Given the description of an element on the screen output the (x, y) to click on. 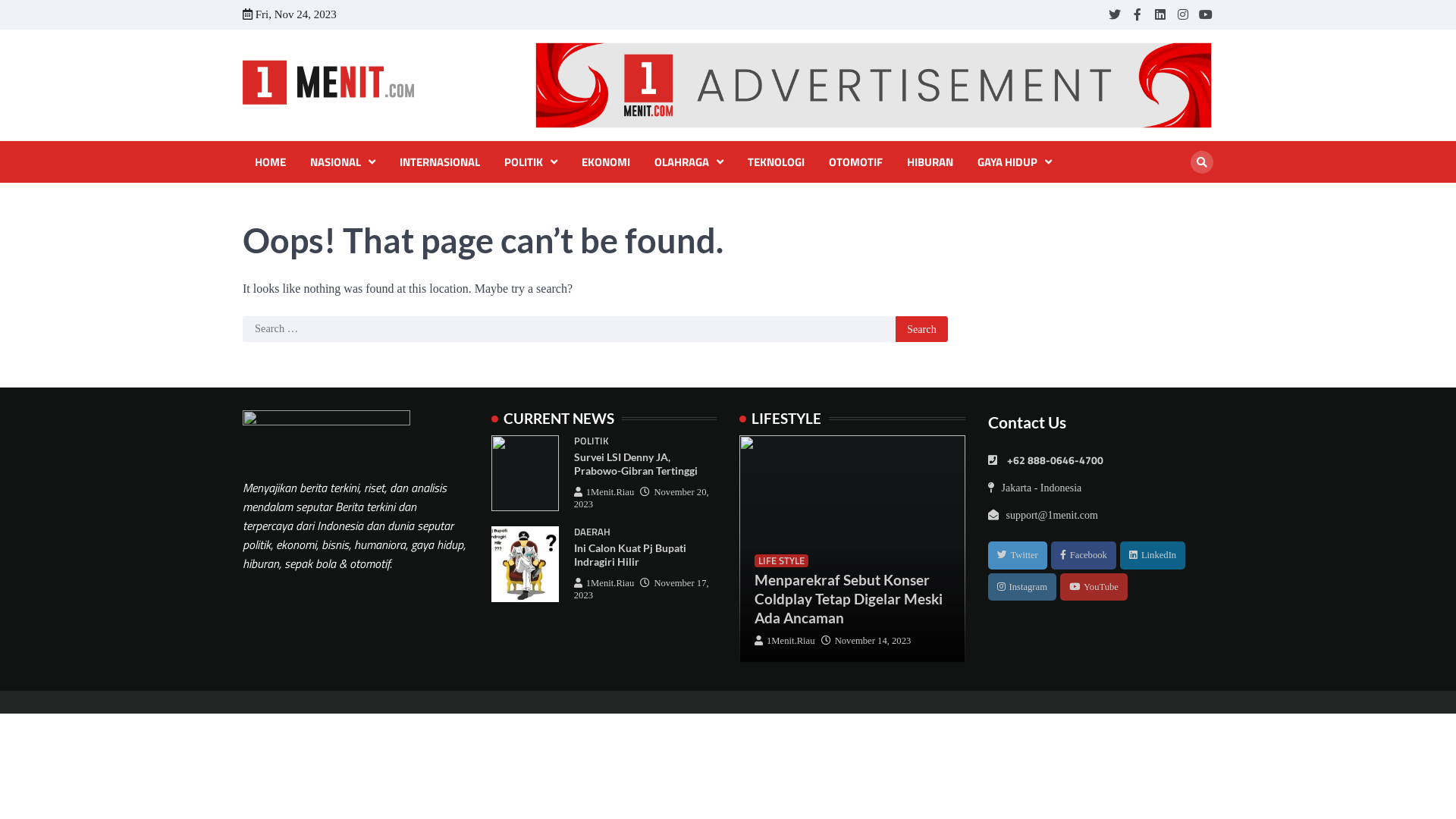
+62 888-0646-4700 Element type: text (1044, 460)
YouTube Element type: text (1093, 587)
Search Element type: hover (1201, 161)
HIBURAN Element type: text (929, 162)
Jakarta - Indonesia Element type: text (1034, 487)
POLITIK Element type: text (591, 440)
support@1menit.com Element type: text (1042, 514)
OLAHRAGA Element type: text (688, 162)
HOME Element type: text (269, 162)
TEKNOLOGI Element type: text (775, 162)
EKONOMI Element type: text (605, 162)
LinkedIn Element type: text (1152, 555)
DAERAH Element type: text (592, 531)
Instagram Element type: text (1182, 13)
November 17, 2023 Element type: text (641, 588)
Facebook Element type: text (1137, 13)
November 20, 2023 Element type: text (641, 497)
Twitter Element type: text (1016, 555)
November 14, 2023 Element type: text (866, 640)
Survei LSI Denny JA, Prabowo-Gibran Tertinggi Element type: text (635, 463)
NASIONAL Element type: text (342, 162)
POLITIK Element type: text (530, 162)
LIFE STYLE Element type: text (781, 560)
Search Element type: text (1174, 197)
OTOMOTIF Element type: text (855, 162)
Facebook Element type: text (1083, 555)
GAYA HIDUP Element type: text (1014, 162)
Twitter Element type: text (1114, 13)
YouTube Element type: text (1205, 13)
1Menit.Riau Element type: text (784, 640)
1Menit.Riau Element type: text (603, 582)
LinkedIn Element type: text (1159, 13)
Search Element type: text (921, 329)
Ini Calon Kuat Pj Bupati Indragiri Hilir Element type: text (630, 554)
Instagram Element type: text (1021, 587)
1Menit.Riau Element type: text (603, 491)
INTERNASIONAL Element type: text (439, 162)
